Given the description of an element on the screen output the (x, y) to click on. 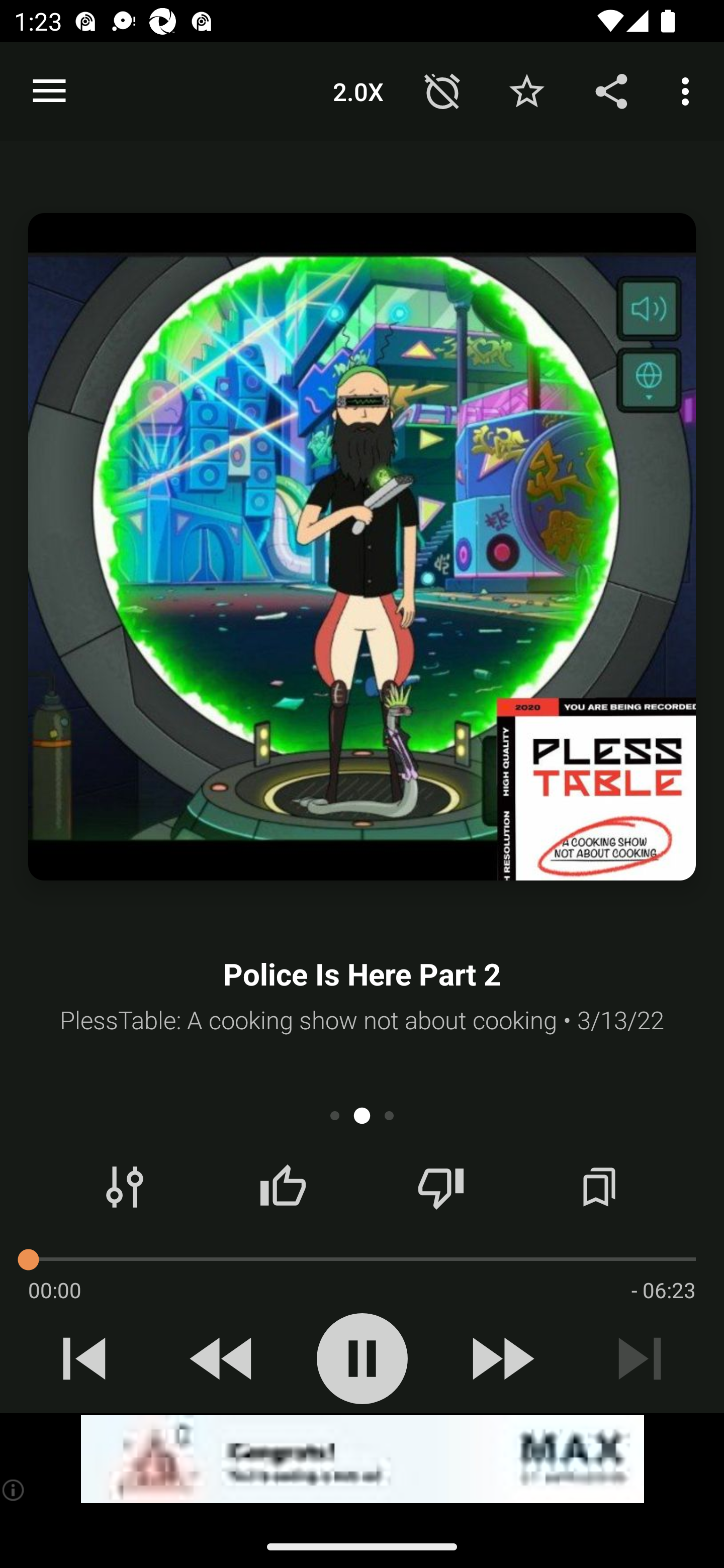
Open navigation sidebar (49, 91)
2.0X (357, 90)
Sleep Timer (442, 90)
Favorite (526, 90)
Share (611, 90)
More options (688, 90)
Episode description (361, 547)
Audio effects (124, 1186)
Thumbs up (283, 1186)
Thumbs down (440, 1186)
Chapters / Bookmarks (598, 1186)
- 06:23 (663, 1289)
Previous track (84, 1358)
Skip 15s backward (222, 1358)
Play / Pause (362, 1358)
Skip 30s forward (500, 1358)
Next track (639, 1358)
app-monetization (362, 1459)
(i) (14, 1489)
